Given the description of an element on the screen output the (x, y) to click on. 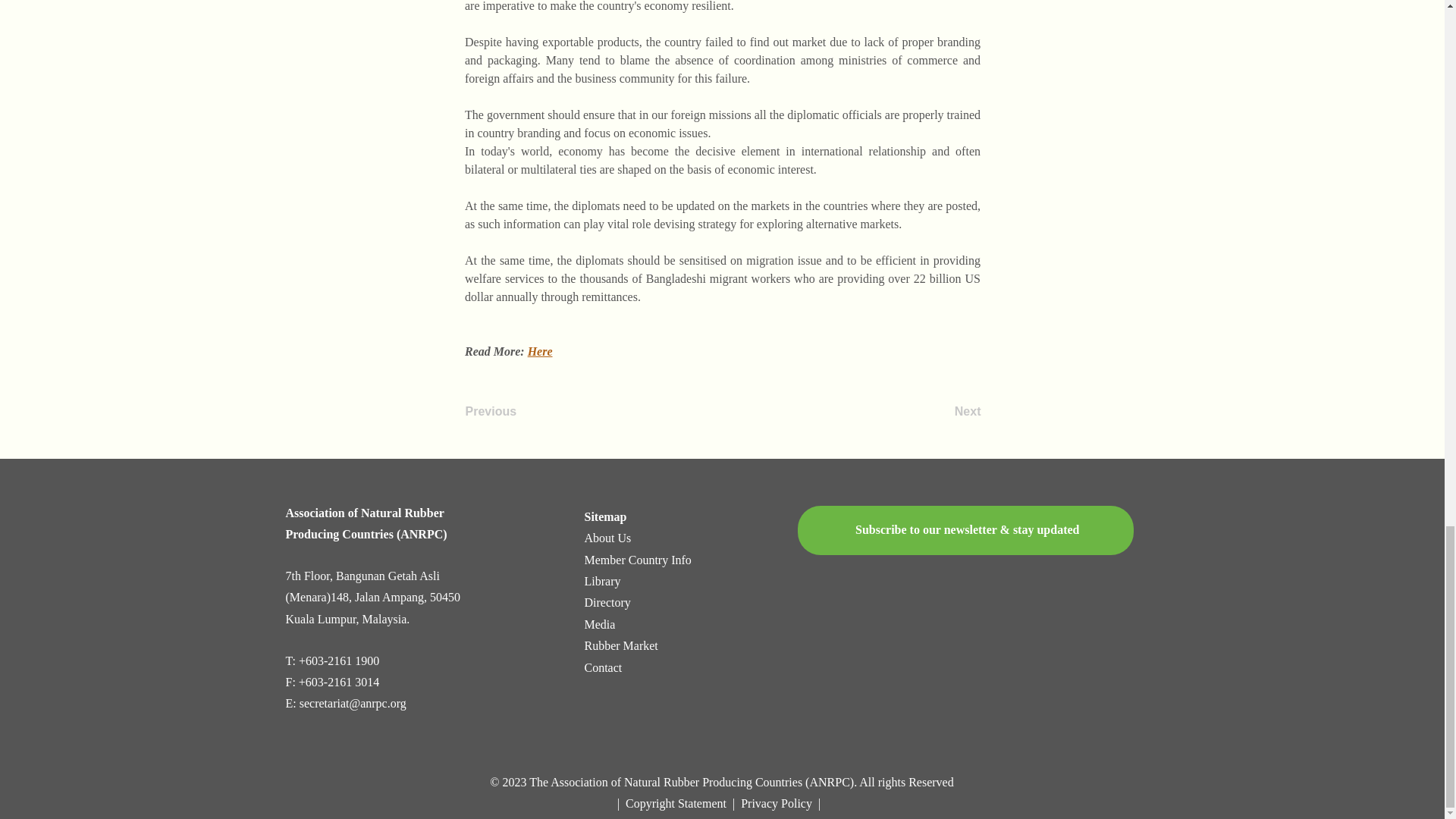
Here (539, 350)
Next (943, 411)
Previous (515, 411)
About Us  (608, 537)
